Given the description of an element on the screen output the (x, y) to click on. 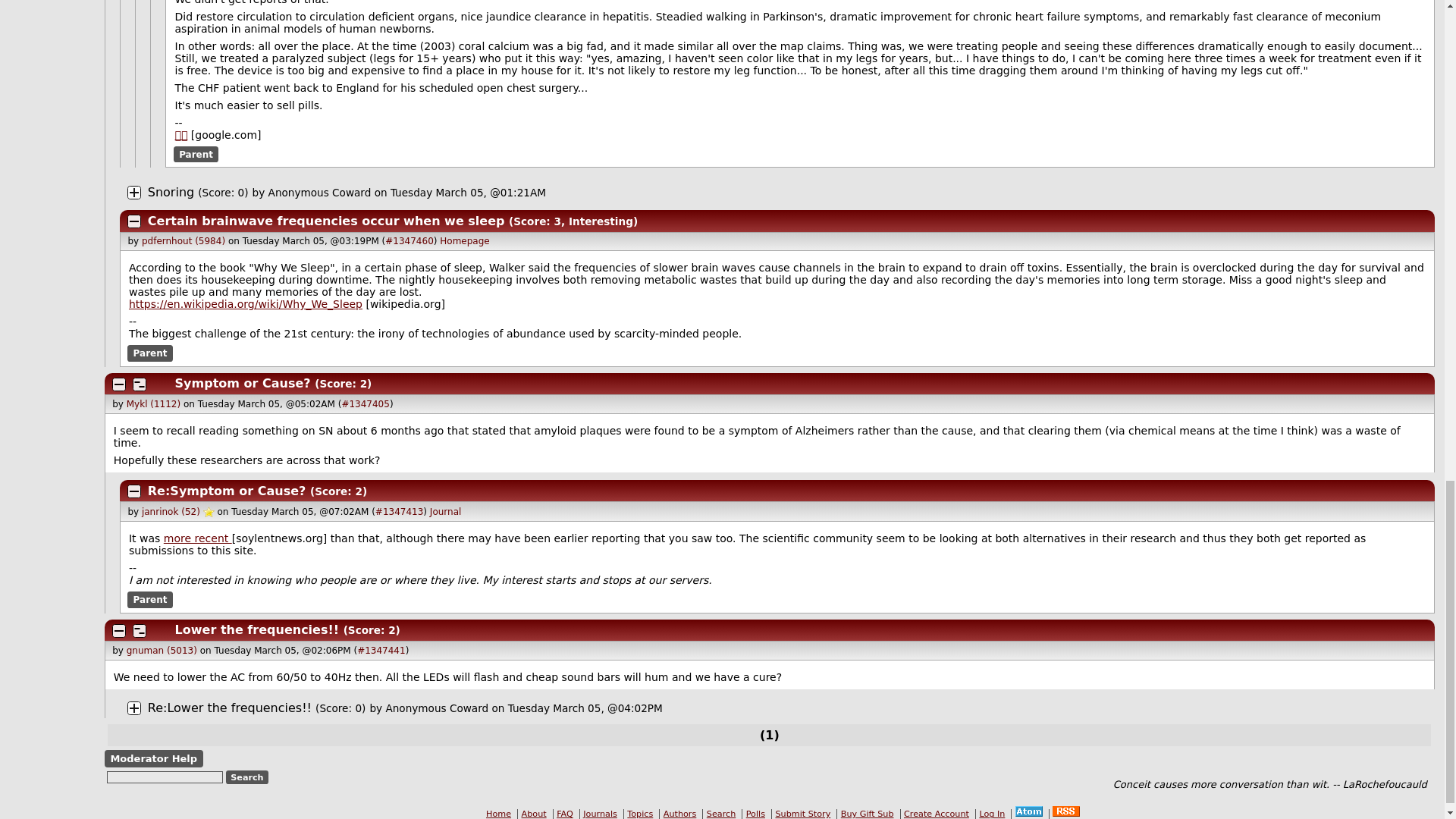
Search (247, 776)
